Given the description of an element on the screen output the (x, y) to click on. 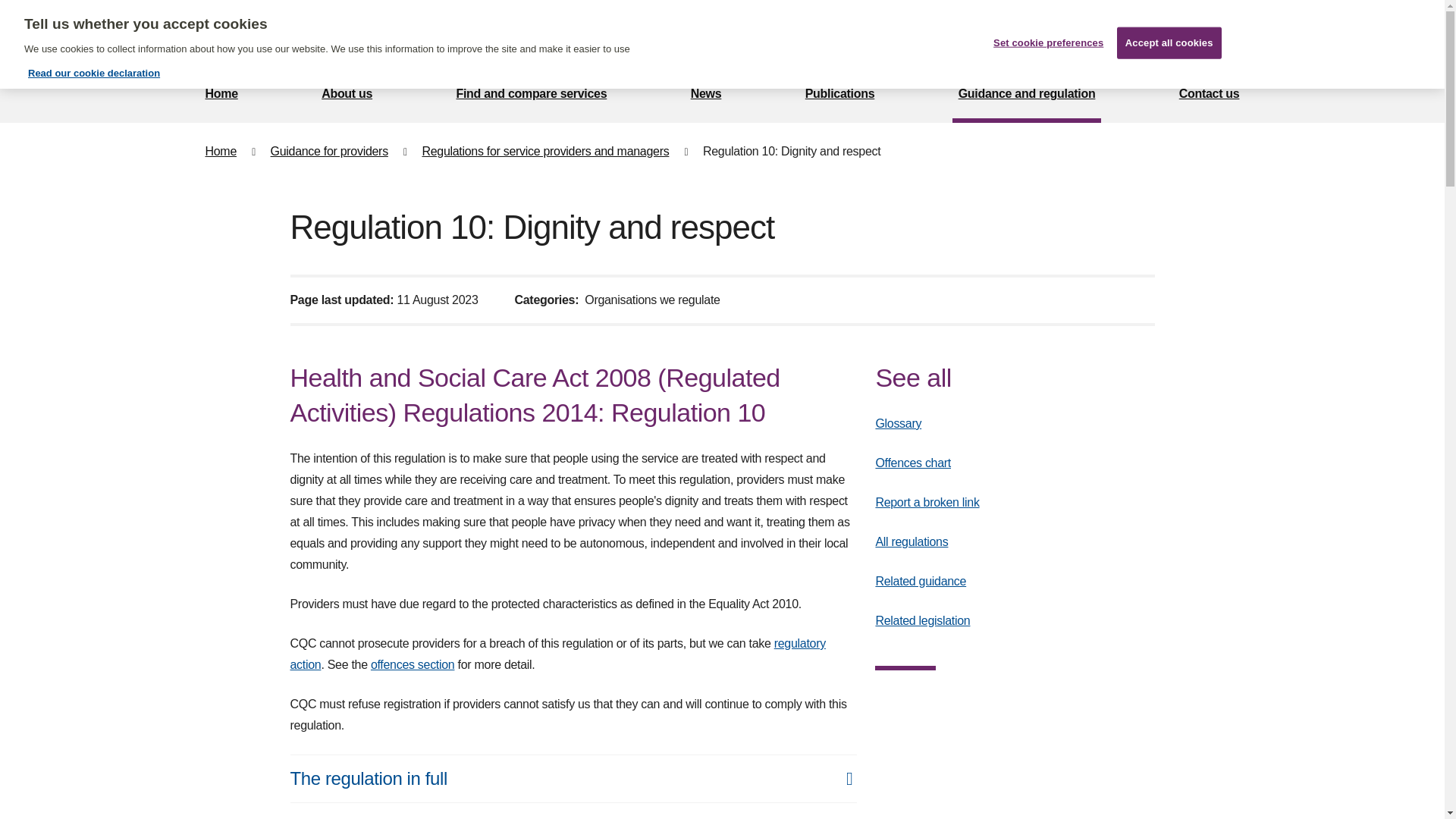
Guidance and regulation (1027, 94)
Search (1227, 33)
Regulations for service providers and managers (545, 151)
Feedback on care (735, 33)
Publications (839, 94)
Glossary (898, 422)
regulatory action (557, 653)
Contact us (1209, 94)
Find and compare services (530, 94)
About us (346, 94)
